Given the description of an element on the screen output the (x, y) to click on. 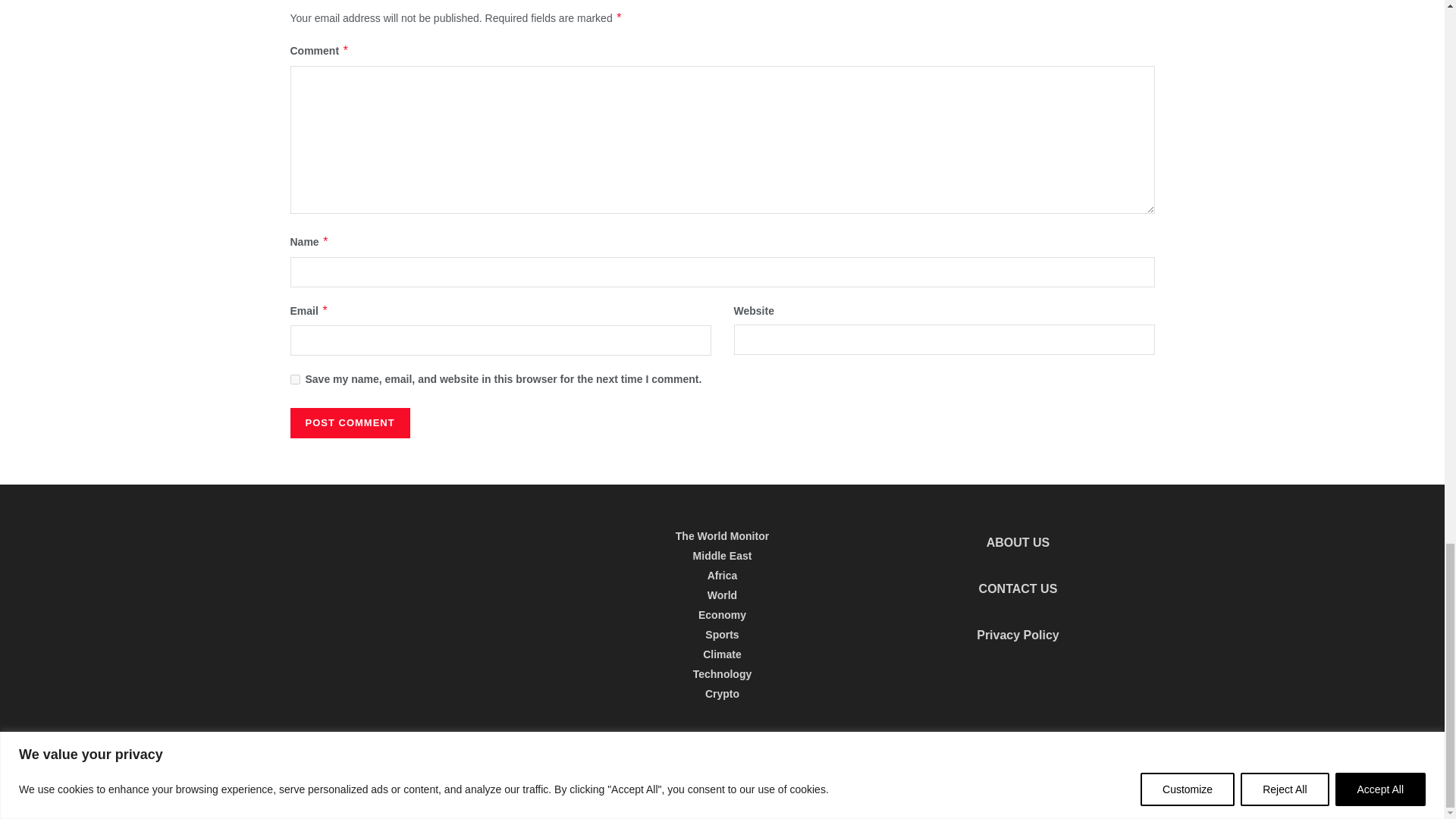
yes (294, 379)
The World Monitor (371, 769)
Post Comment (349, 422)
